Given the description of an element on the screen output the (x, y) to click on. 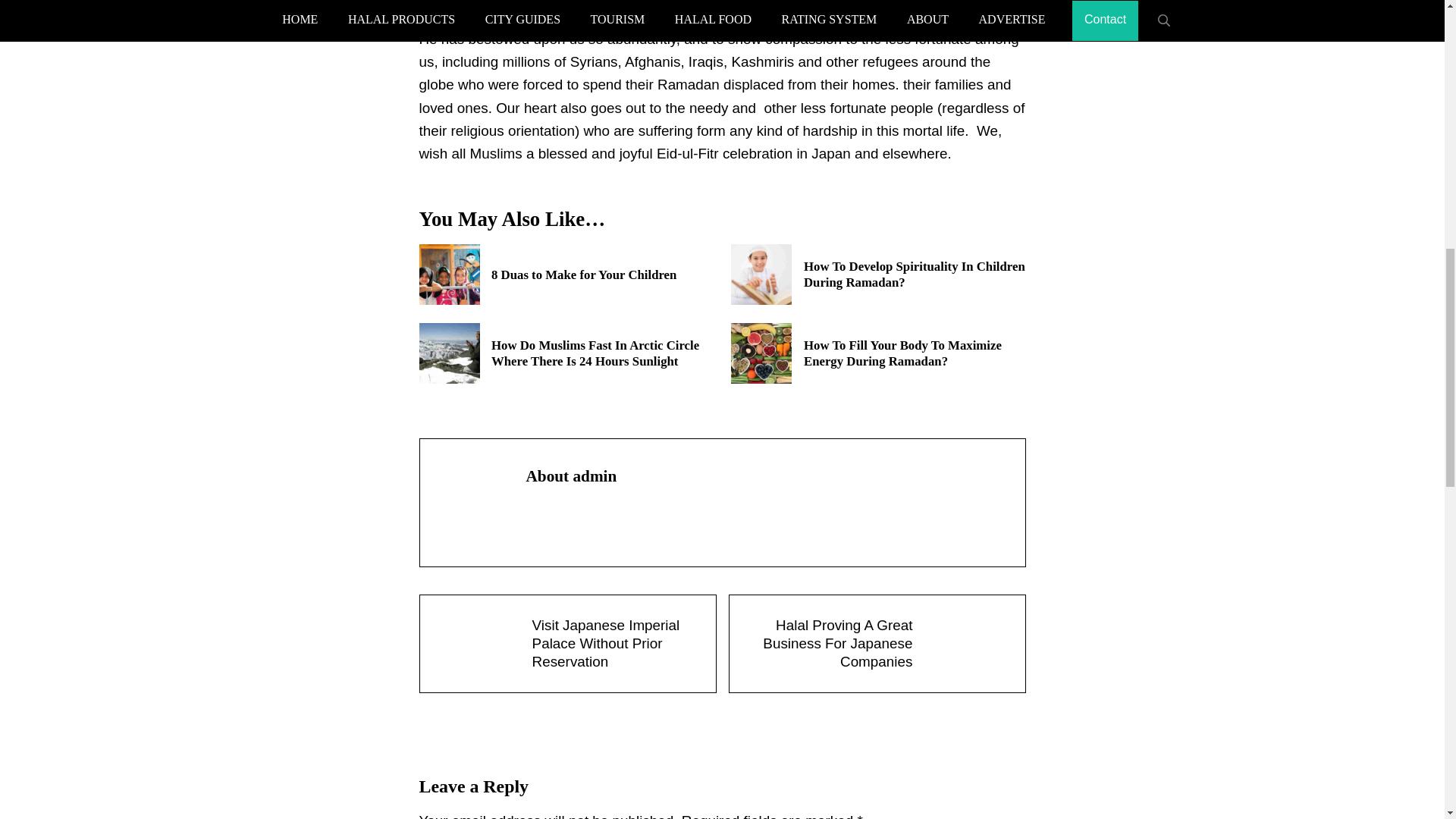
8 Duas to Make for Your Children (602, 274)
